Given the description of an element on the screen output the (x, y) to click on. 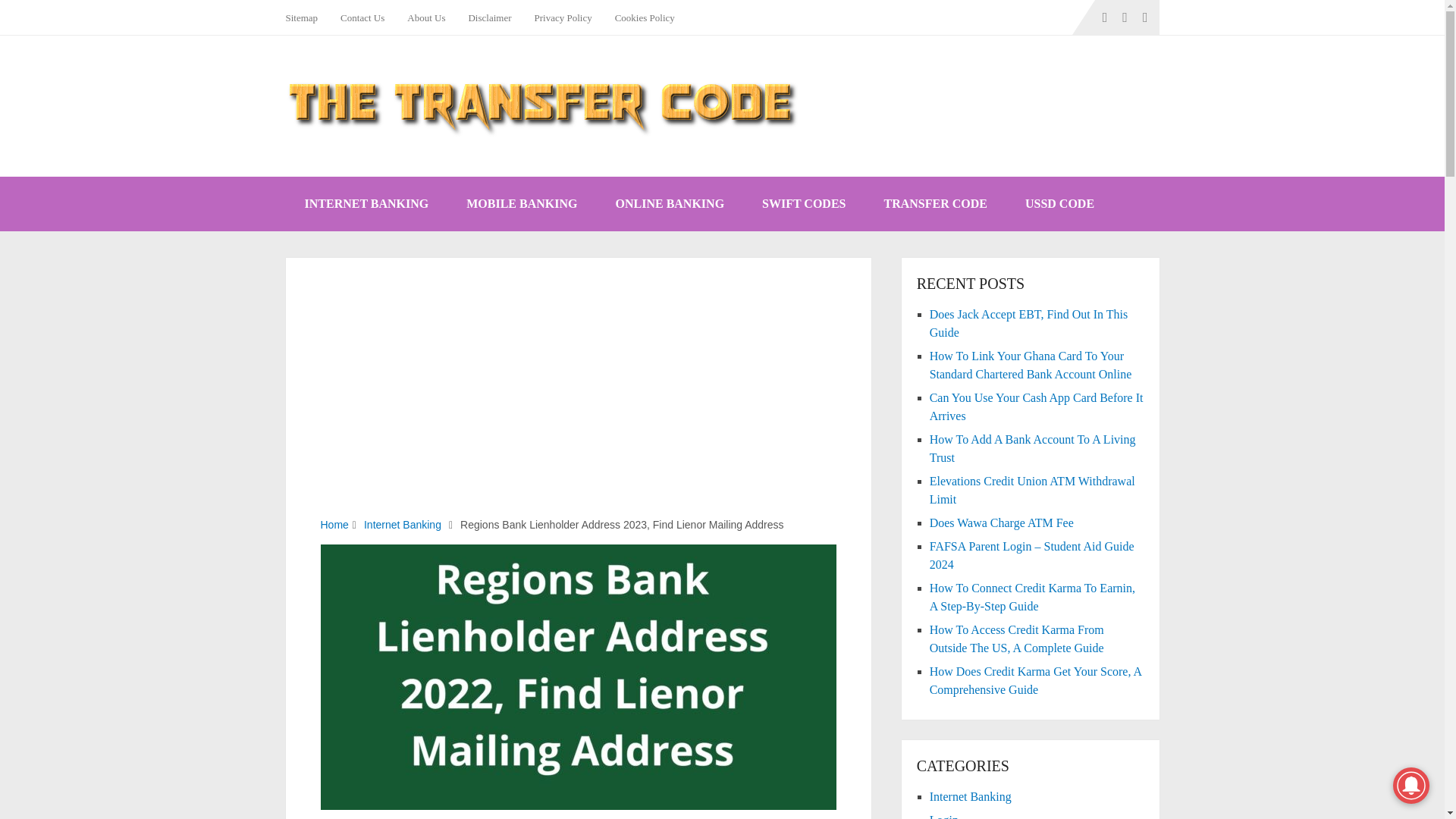
About Us (426, 17)
Advertisement (577, 404)
Disclaimer (489, 17)
Sitemap (307, 17)
USSD CODE (1059, 203)
Privacy Policy (563, 17)
TRANSFER CODE (935, 203)
Internet Banking (402, 524)
MOBILE BANKING (520, 203)
Contact Us (362, 17)
Cookies Policy (644, 17)
SWIFT CODES (803, 203)
ONLINE BANKING (668, 203)
Home (333, 524)
INTERNET BANKING (365, 203)
